Given the description of an element on the screen output the (x, y) to click on. 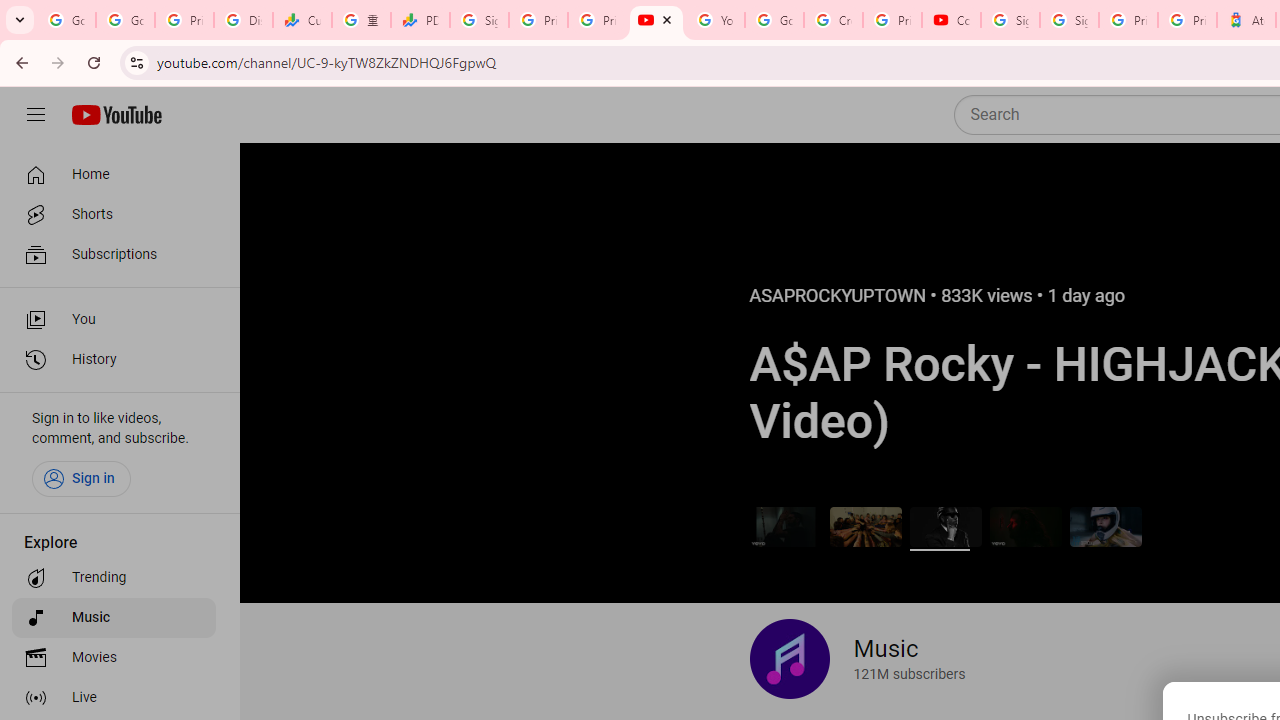
Music (113, 617)
PDD Holdings Inc - ADR (PDD) Price & News - Google Finance (420, 20)
YouTube (715, 20)
Google Workspace Admin Community (66, 20)
A$AP Rocky - HIGHJACK (Official Video) (944, 526)
Currencies - Google Finance (301, 20)
Hozier - Nobody's Soldier (Official Video) (1025, 526)
Movies (113, 657)
A$AP Rocky - HIGHJACK (Official Video) (944, 526)
Live (113, 697)
